Given the description of an element on the screen output the (x, y) to click on. 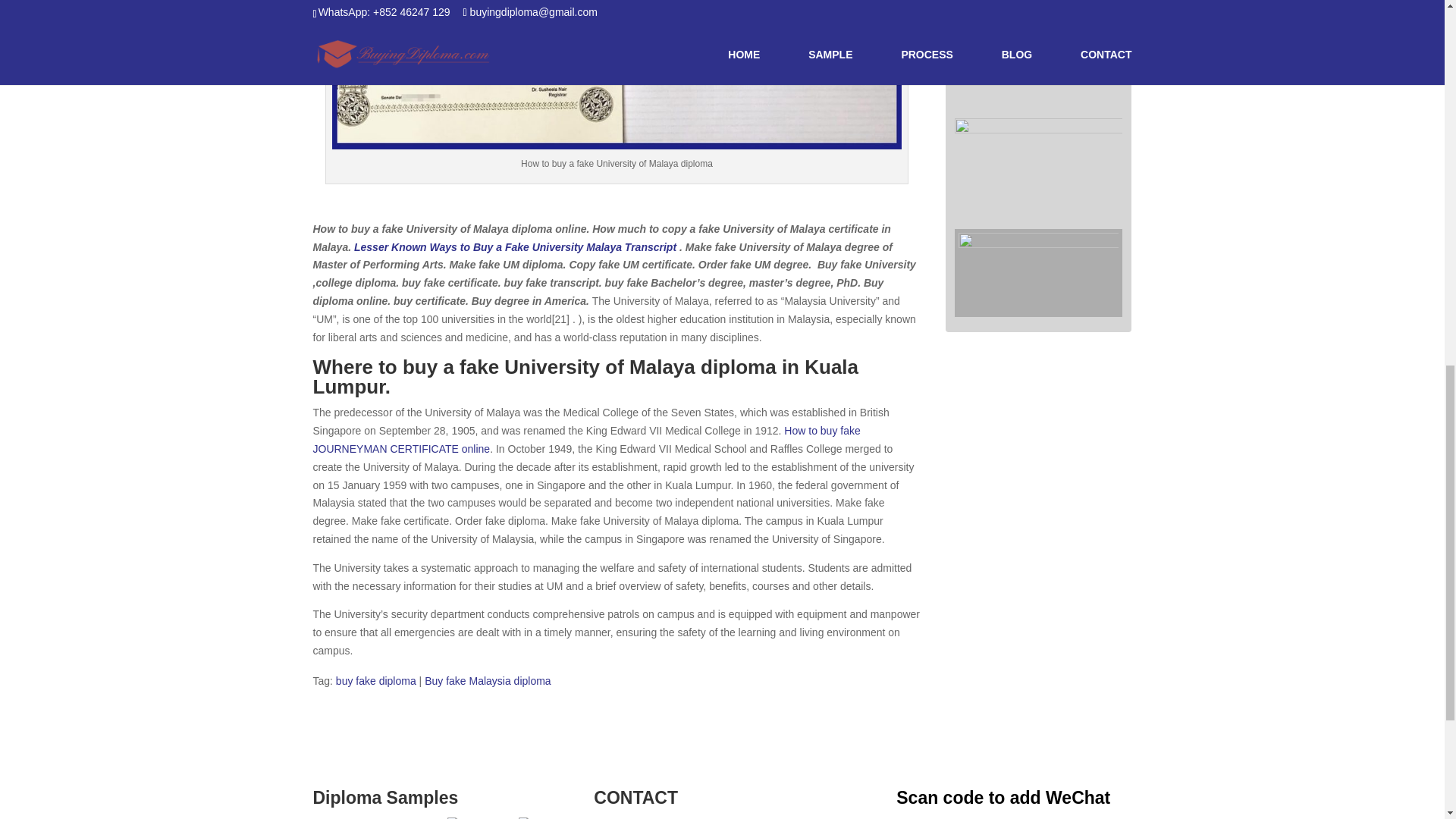
d110dcfc2a946e383fcf2c15564d892e (1038, 60)
buy fake diploma (376, 680)
Italy (536, 816)
Buy fake Malaysia diploma (488, 680)
Canada (473, 816)
How to buy fake JOURNEYMAN CERTIFICATE online (586, 440)
Wecha-code (1038, 272)
2d3dbff73217d4c9ed7e7cf52a4072fb (1038, 168)
Lesser Known Ways to Buy a Fake University Malaya Transcript (516, 246)
